Given the description of an element on the screen output the (x, y) to click on. 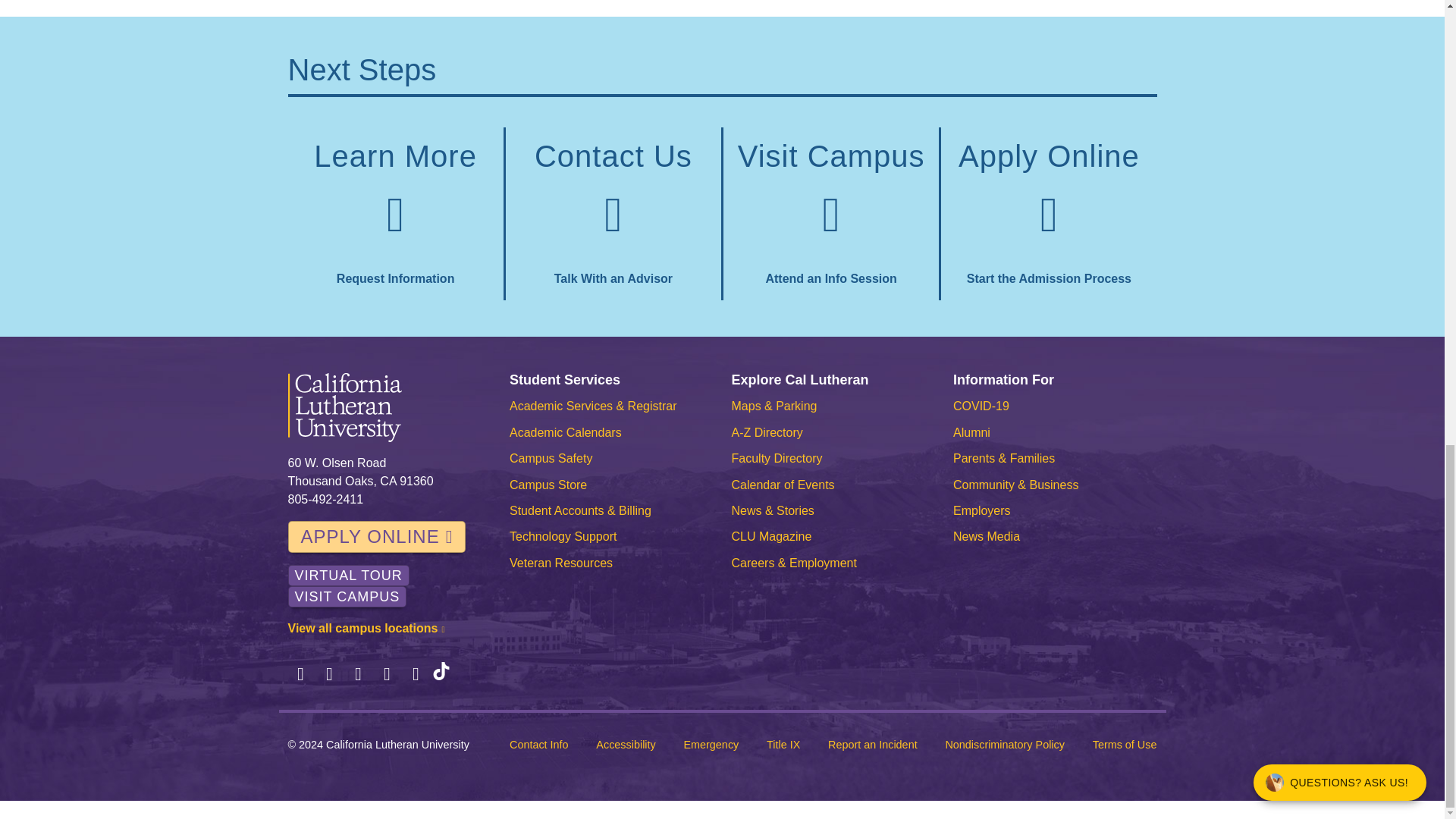
LinkedIn (387, 673)
TikTok (440, 673)
Facebook (301, 673)
Instagram (358, 673)
YouTube (416, 673)
